Given the description of an element on the screen output the (x, y) to click on. 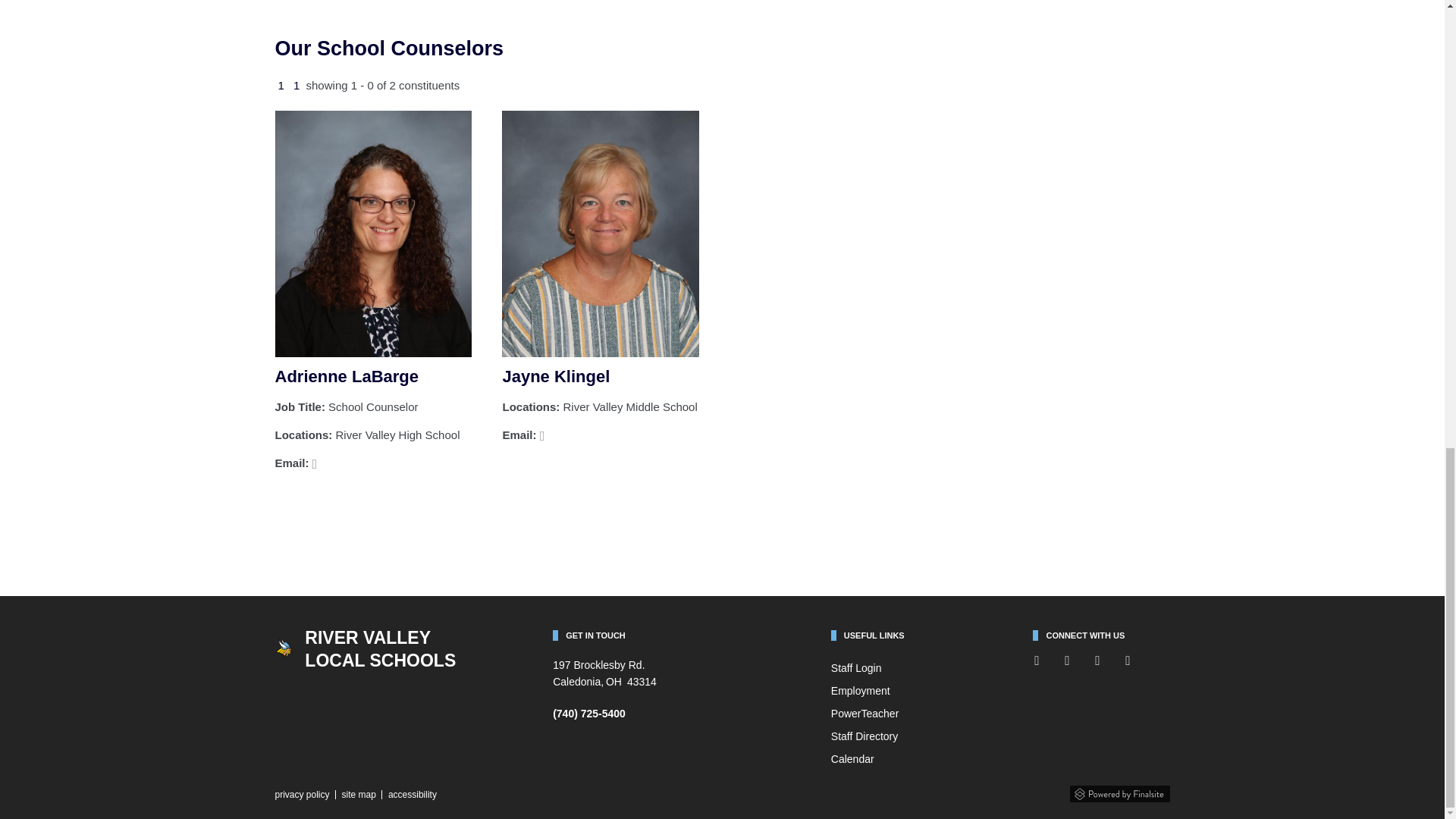
Powered by Finalsite opens in a new window (1118, 790)
